Given the description of an element on the screen output the (x, y) to click on. 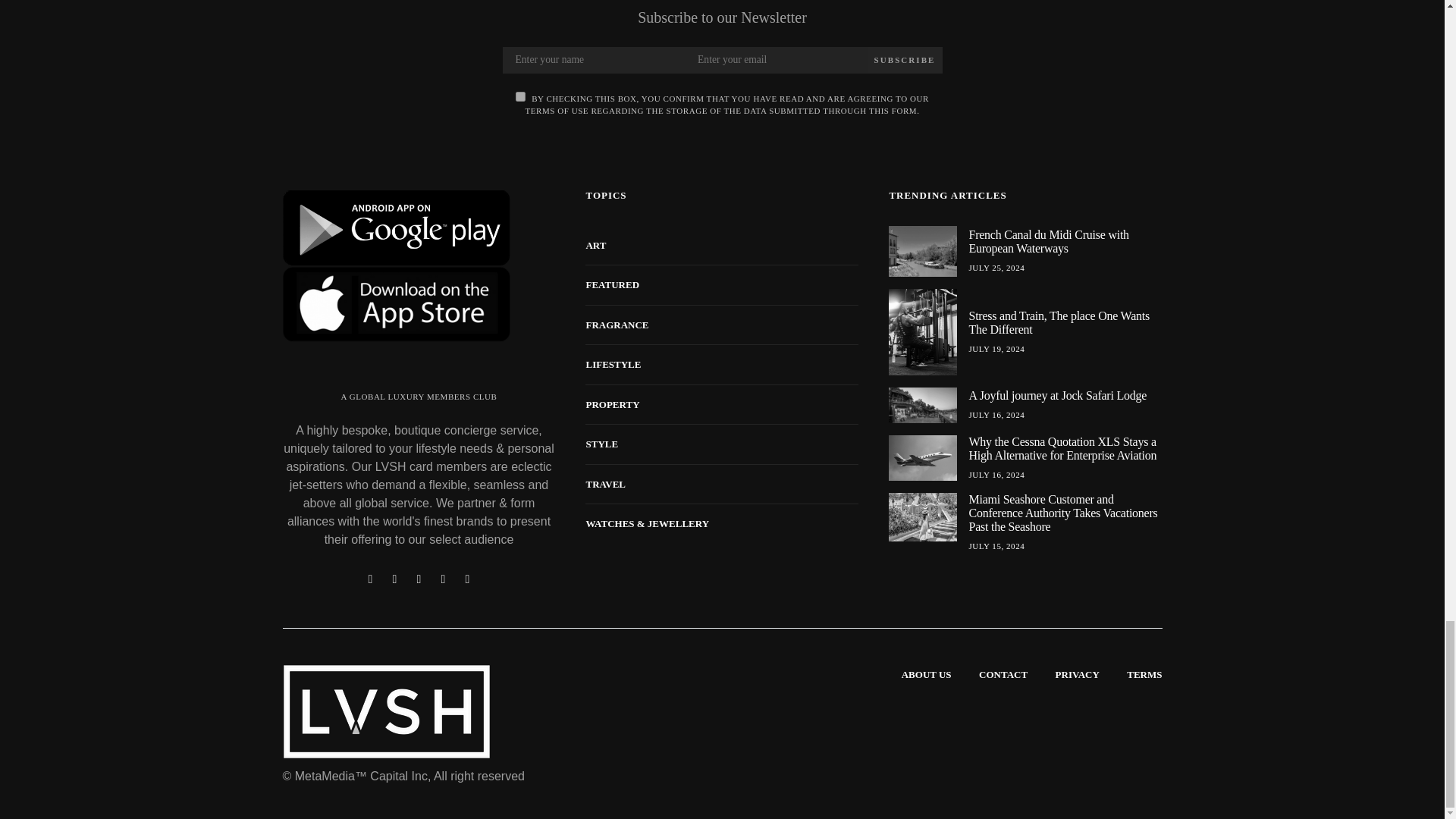
on (520, 95)
